Given the description of an element on the screen output the (x, y) to click on. 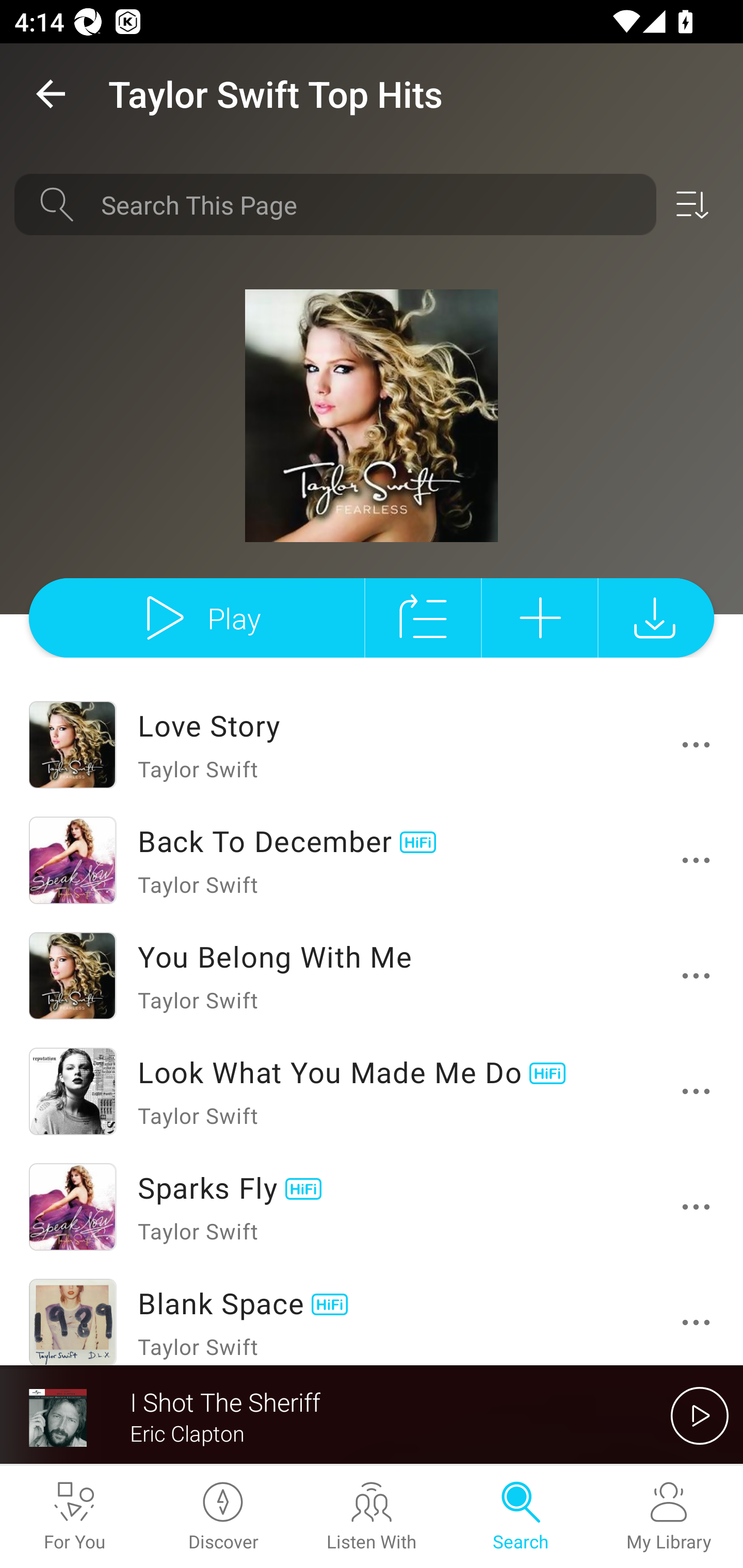
Navigate up (50, 93)
Search This Page (371, 204)
Play (196, 617)
加入至歌單 (539, 617)
下載歌曲至手機 (656, 617)
Love Story Taylor Swift 更多操作選項 (371, 744)
更多操作選項 (695, 744)
Back To December Taylor Swift 更多操作選項 (371, 860)
更多操作選項 (695, 859)
You Belong With Me Taylor Swift 更多操作選項 (371, 975)
更多操作選項 (695, 975)
Look What You Made Me Do Taylor Swift 更多操作選項 (371, 1091)
更多操作選項 (695, 1091)
Sparks Fly Taylor Swift 更多操作選項 (371, 1207)
更多操作選項 (695, 1206)
Blank Space Taylor Swift 更多操作選項 (371, 1315)
更多操作選項 (695, 1322)
開始播放 (699, 1415)
For You (74, 1517)
Discover (222, 1517)
Listen With (371, 1517)
Search (519, 1517)
My Library (668, 1517)
